Given the description of an element on the screen output the (x, y) to click on. 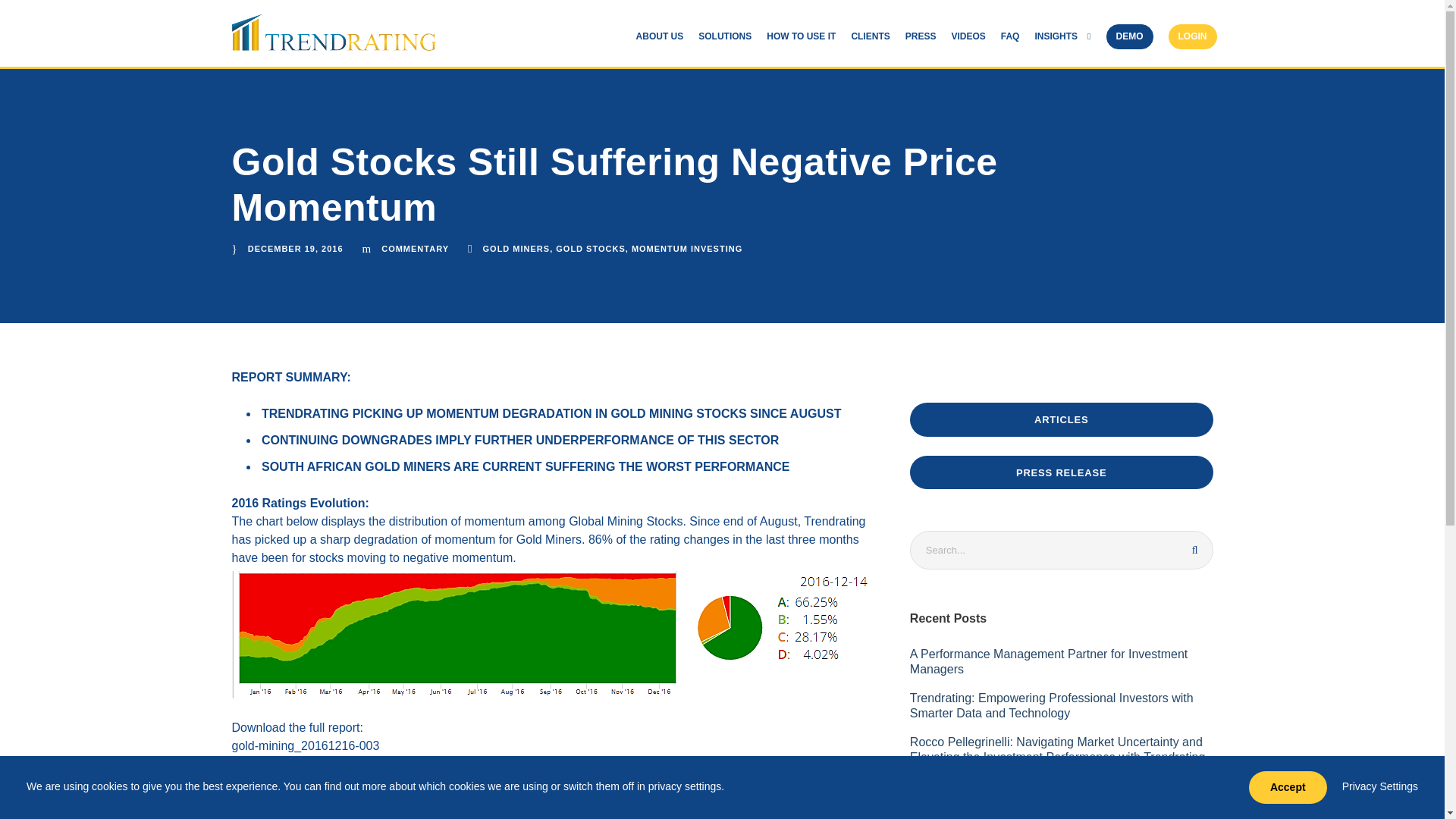
DEMO (1129, 46)
HOW TO USE IT (801, 41)
GOLD MINERS (516, 248)
GOLD STOCKS (590, 248)
VIDEOS (967, 41)
PRESS (920, 41)
DECEMBER 19, 2016 (295, 248)
ABOUT US (660, 41)
CLIENTS (869, 41)
COMMENTARY (414, 248)
SOLUTIONS (724, 41)
MOMENTUM INVESTING (686, 248)
INSIGHTS (1061, 41)
LOGIN (1191, 46)
